Given the description of an element on the screen output the (x, y) to click on. 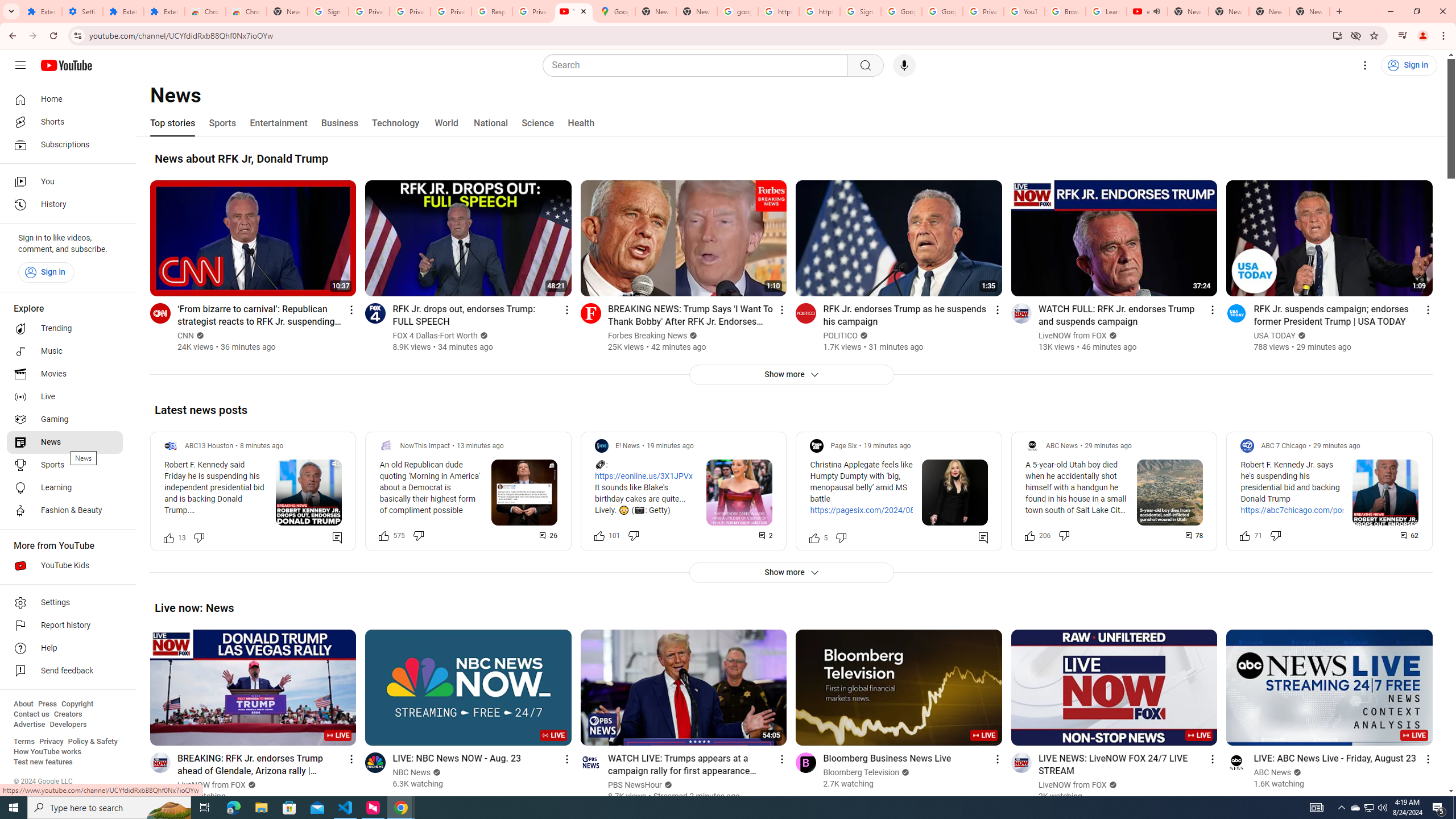
13 minutes ago (480, 445)
Mute tab (1156, 10)
Extensions (122, 11)
Trending (64, 328)
Sports (64, 464)
Verified (1296, 772)
